Given the description of an element on the screen output the (x, y) to click on. 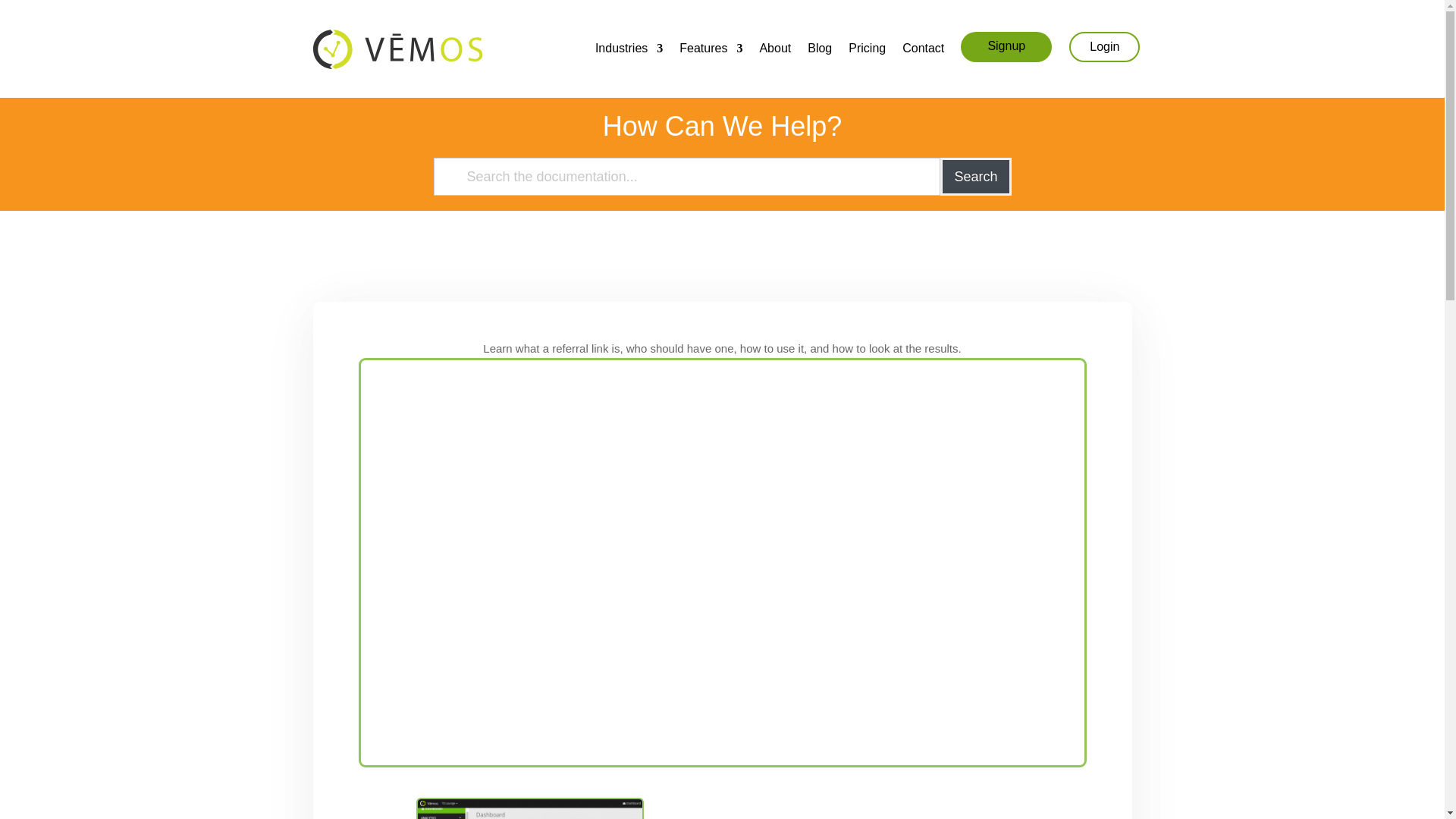
Screen-Shot-2020-01-21-at-10.35.15-AM-300x208 (529, 808)
vemos-logo (398, 48)
